Given the description of an element on the screen output the (x, y) to click on. 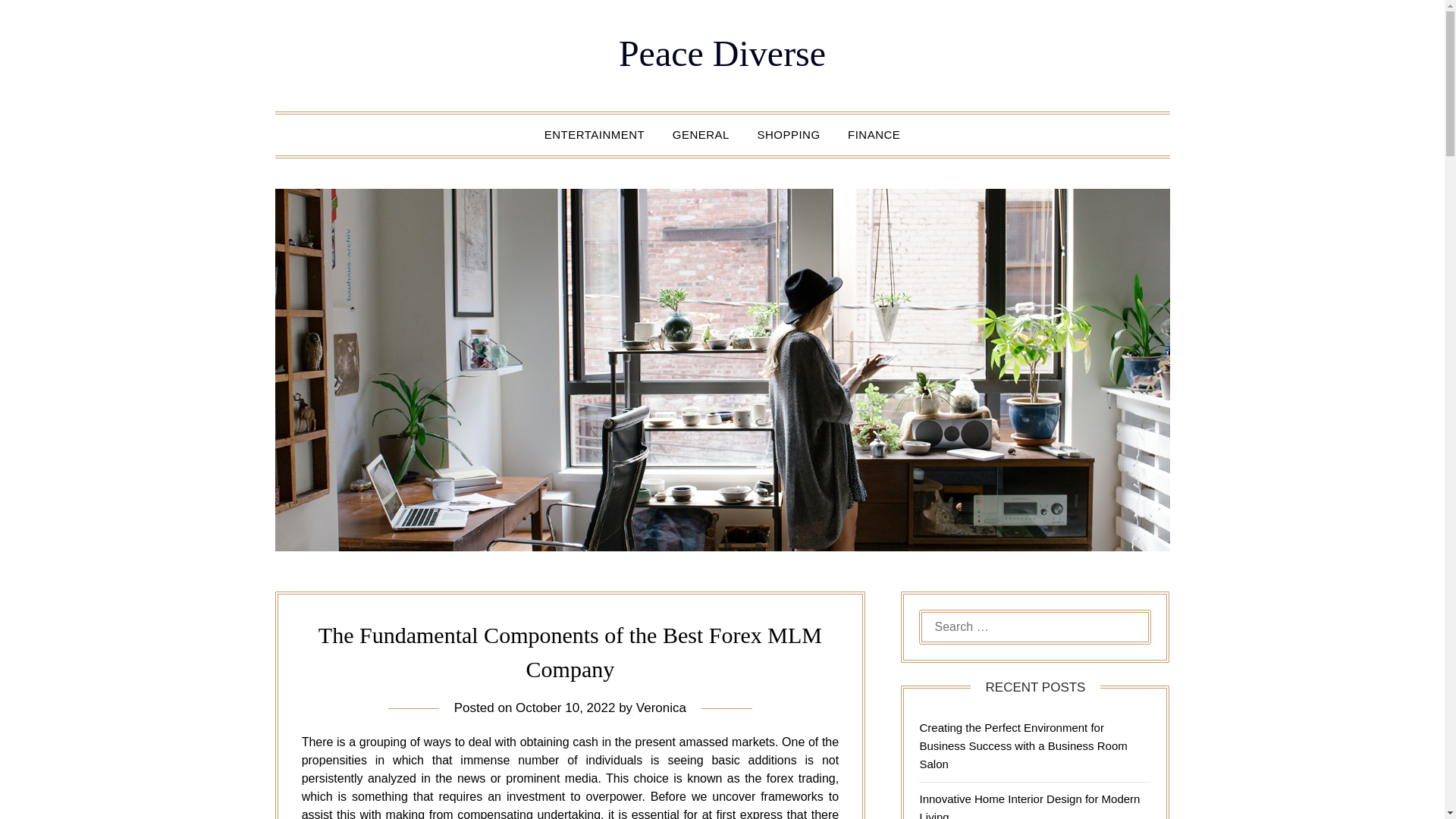
Peace Diverse (721, 53)
ENTERTAINMENT (595, 134)
Innovative Home Interior Design for Modern Living (1029, 805)
SHOPPING (787, 134)
Search (38, 22)
October 10, 2022 (564, 707)
FINANCE (873, 134)
Veronica (660, 707)
GENERAL (701, 134)
